Given the description of an element on the screen output the (x, y) to click on. 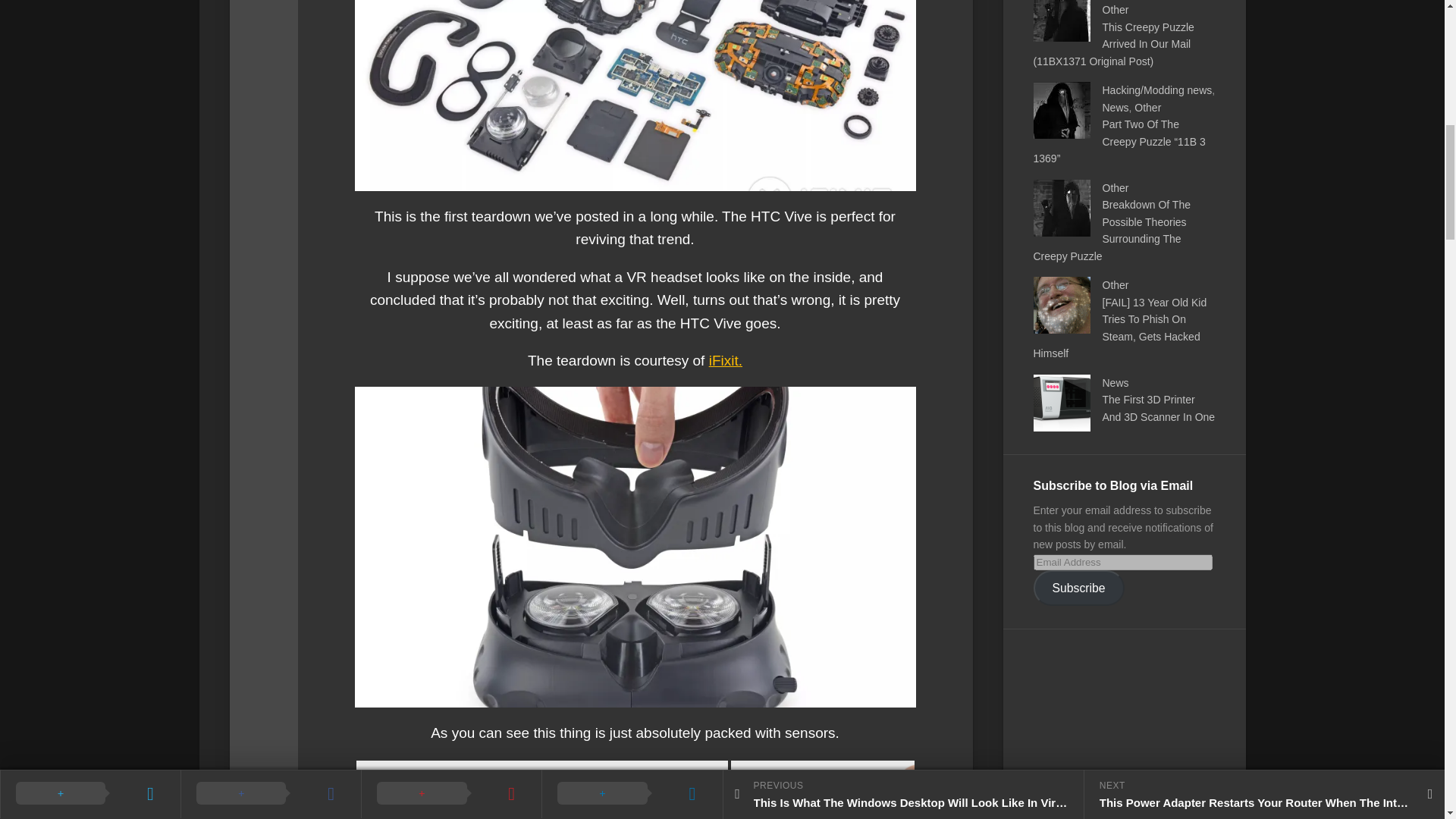
TsXMDAUnDBS6VSLQ (822, 789)
kNXevCeYBuDdUo4D (542, 789)
iFixit. (725, 360)
